Given the description of an element on the screen output the (x, y) to click on. 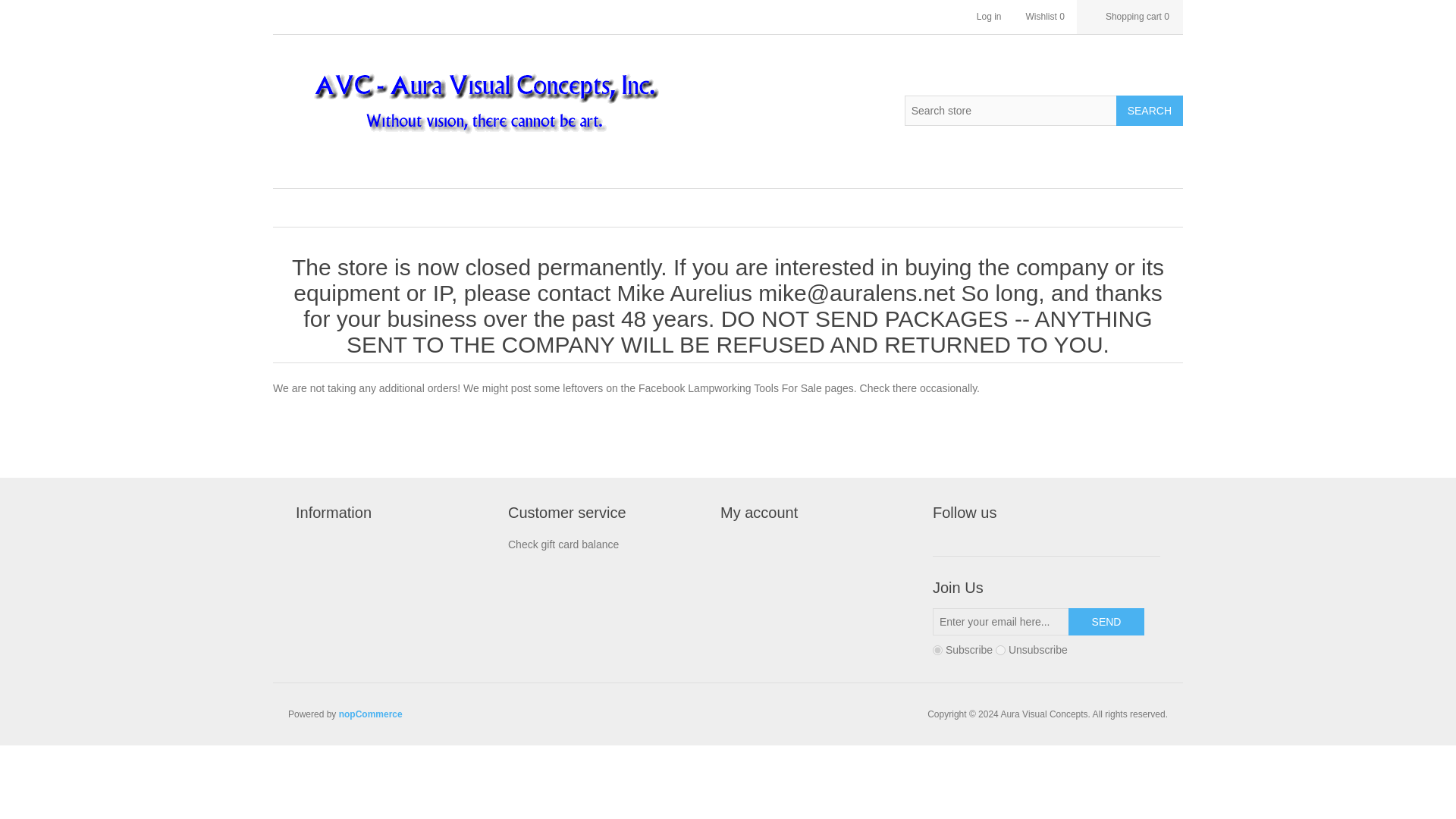
nopCommerce (371, 714)
Check gift card balance (563, 544)
Wishlist 0 (1045, 17)
SEND (1106, 621)
SEARCH (1149, 110)
Shopping cart 0 (1129, 17)
